Given the description of an element on the screen output the (x, y) to click on. 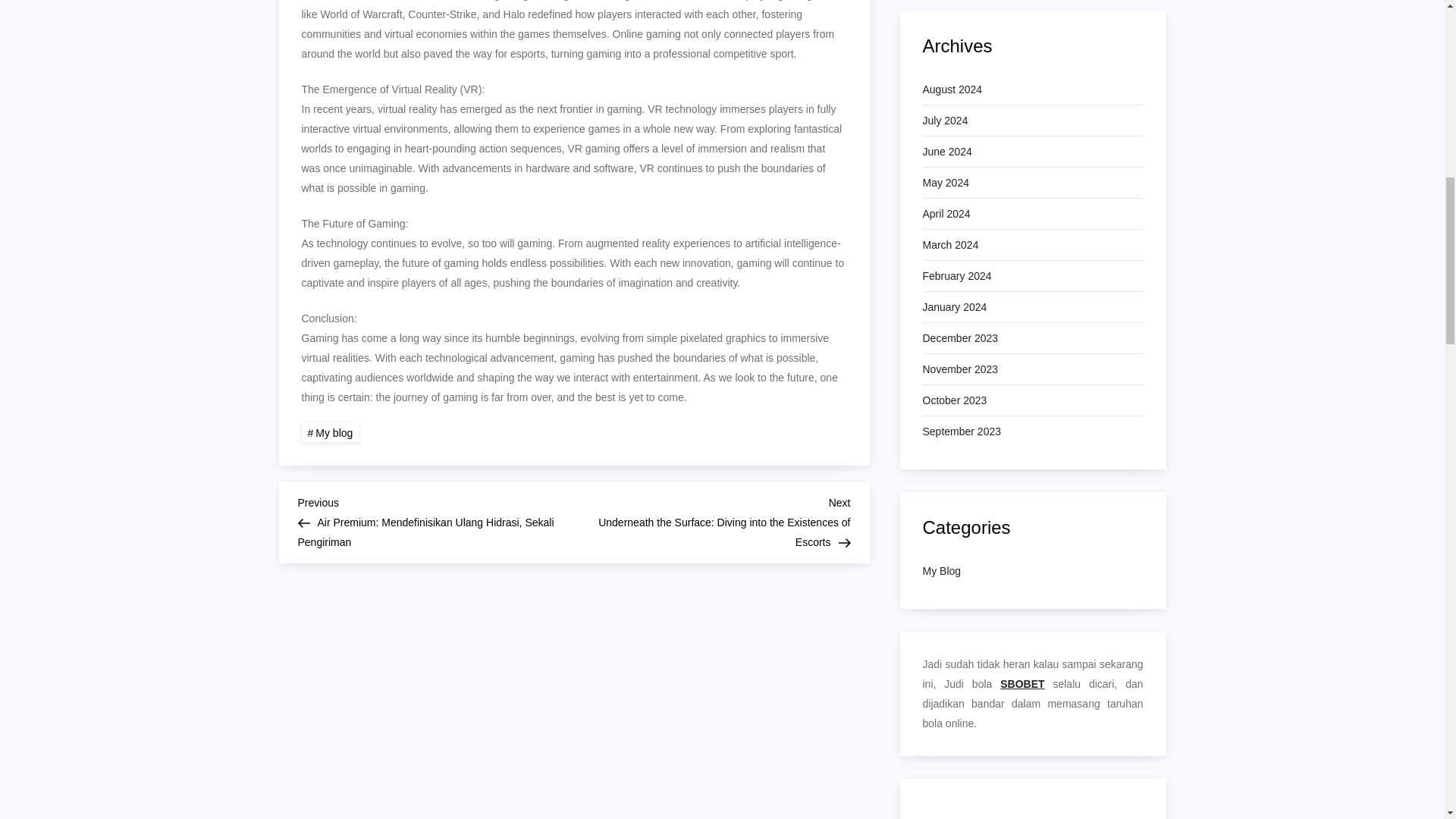
January 2024 (954, 306)
May 2024 (944, 182)
November 2023 (959, 369)
June 2024 (946, 151)
My Blog (940, 570)
My blog (330, 432)
March 2024 (949, 244)
July 2024 (944, 120)
